Given the description of an element on the screen output the (x, y) to click on. 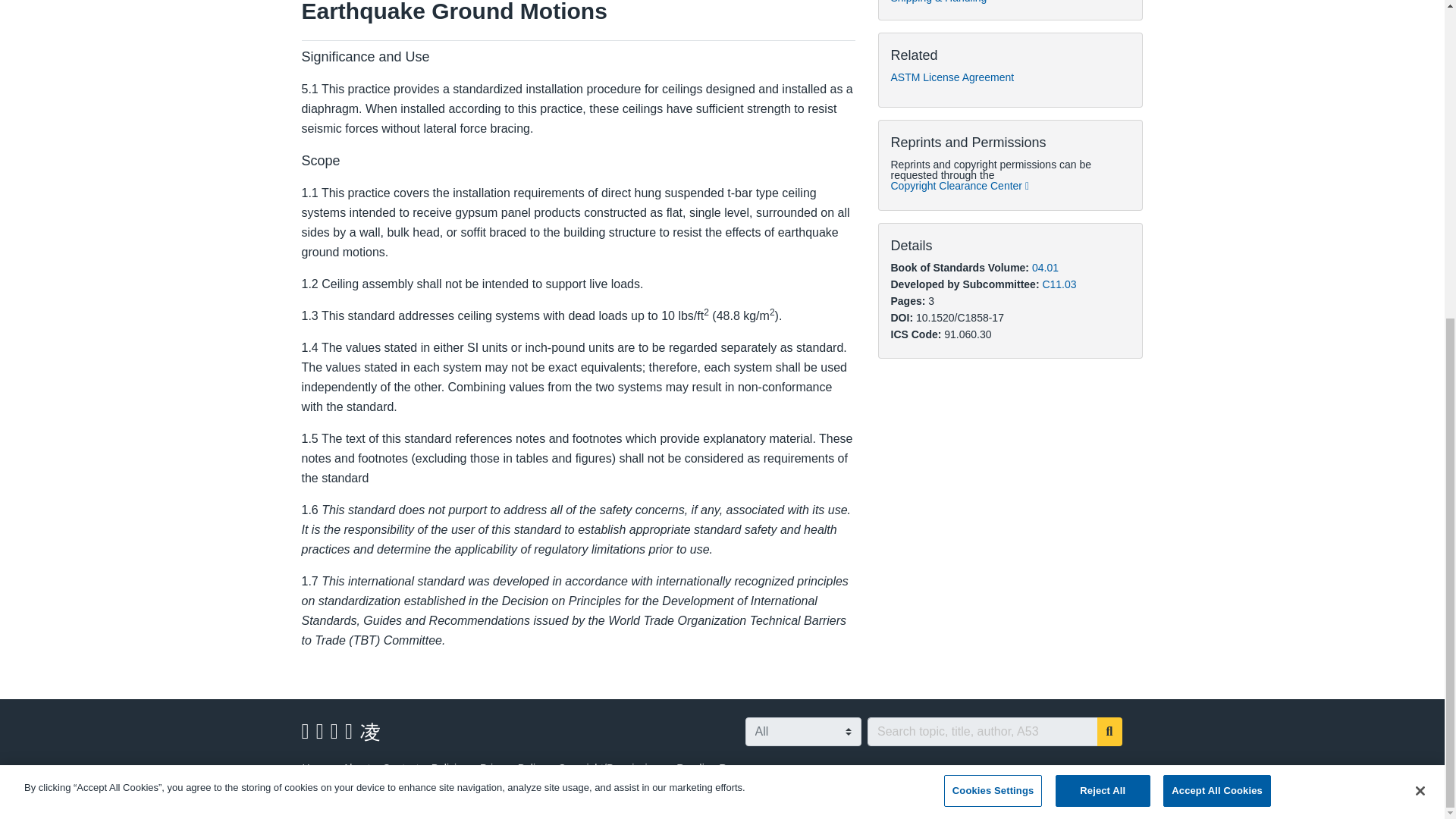
Search (1109, 731)
